Given the description of an element on the screen output the (x, y) to click on. 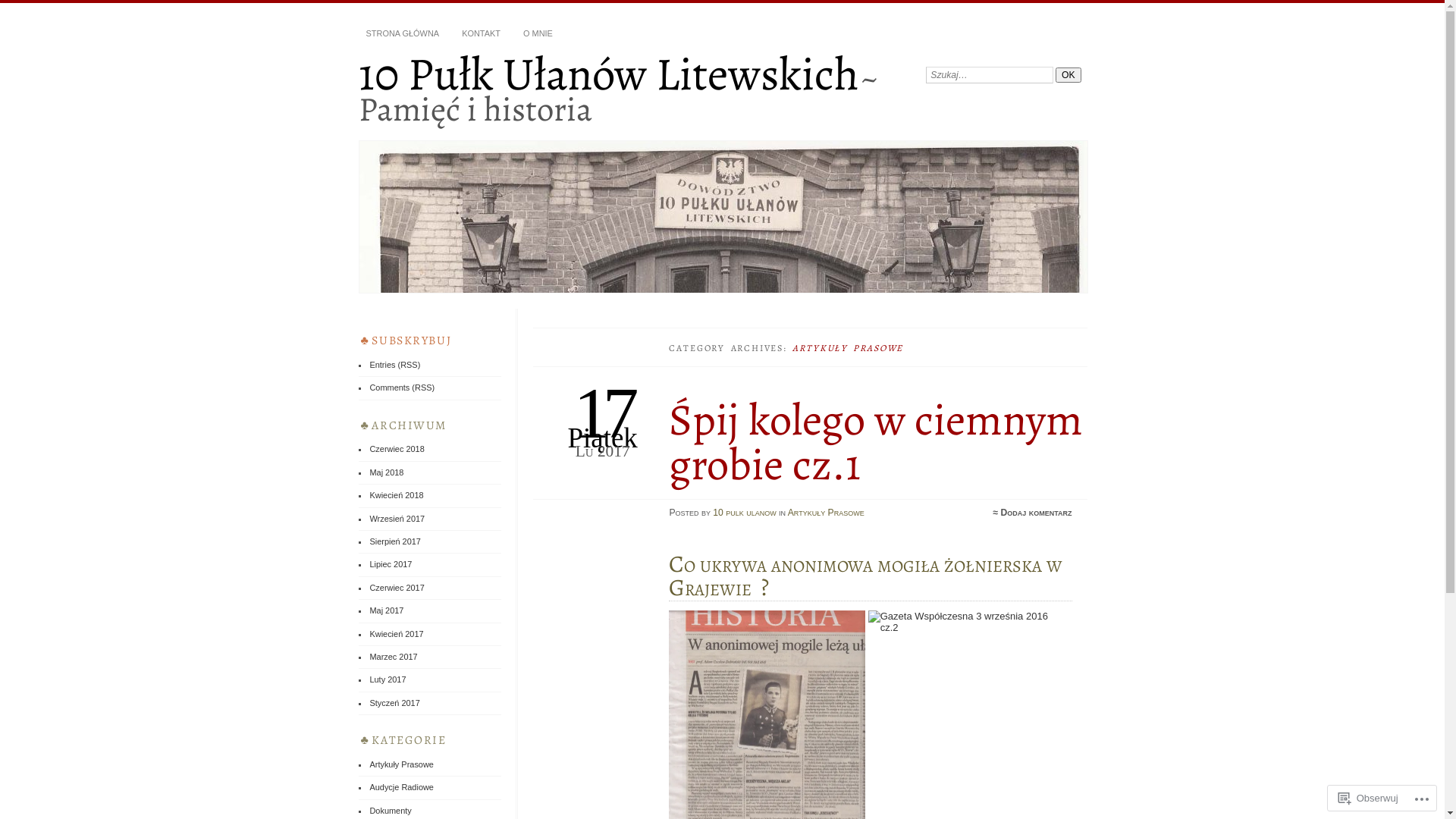
Audycje Radiowe Element type: text (401, 786)
2 Element type: hover (966, 621)
Lipiec 2017 Element type: text (390, 563)
Czerwiec 2018 Element type: text (396, 448)
Luty 2017 Element type: text (387, 679)
10 pulk ulanow Element type: text (743, 512)
Comments (RSS) Element type: text (401, 387)
Dokumenty Element type: text (390, 810)
Maj 2018 Element type: text (386, 471)
Obserwuj Element type: text (1368, 797)
OK Element type: text (1068, 74)
Dodaj komentarz Element type: text (1036, 512)
Czerwiec 2017 Element type: text (396, 587)
O MNIE Element type: text (537, 33)
Entries (RSS) Element type: text (394, 364)
Marzec 2017 Element type: text (393, 656)
Maj 2017 Element type: text (386, 610)
KONTAKT Element type: text (481, 33)
